Given the description of an element on the screen output the (x, y) to click on. 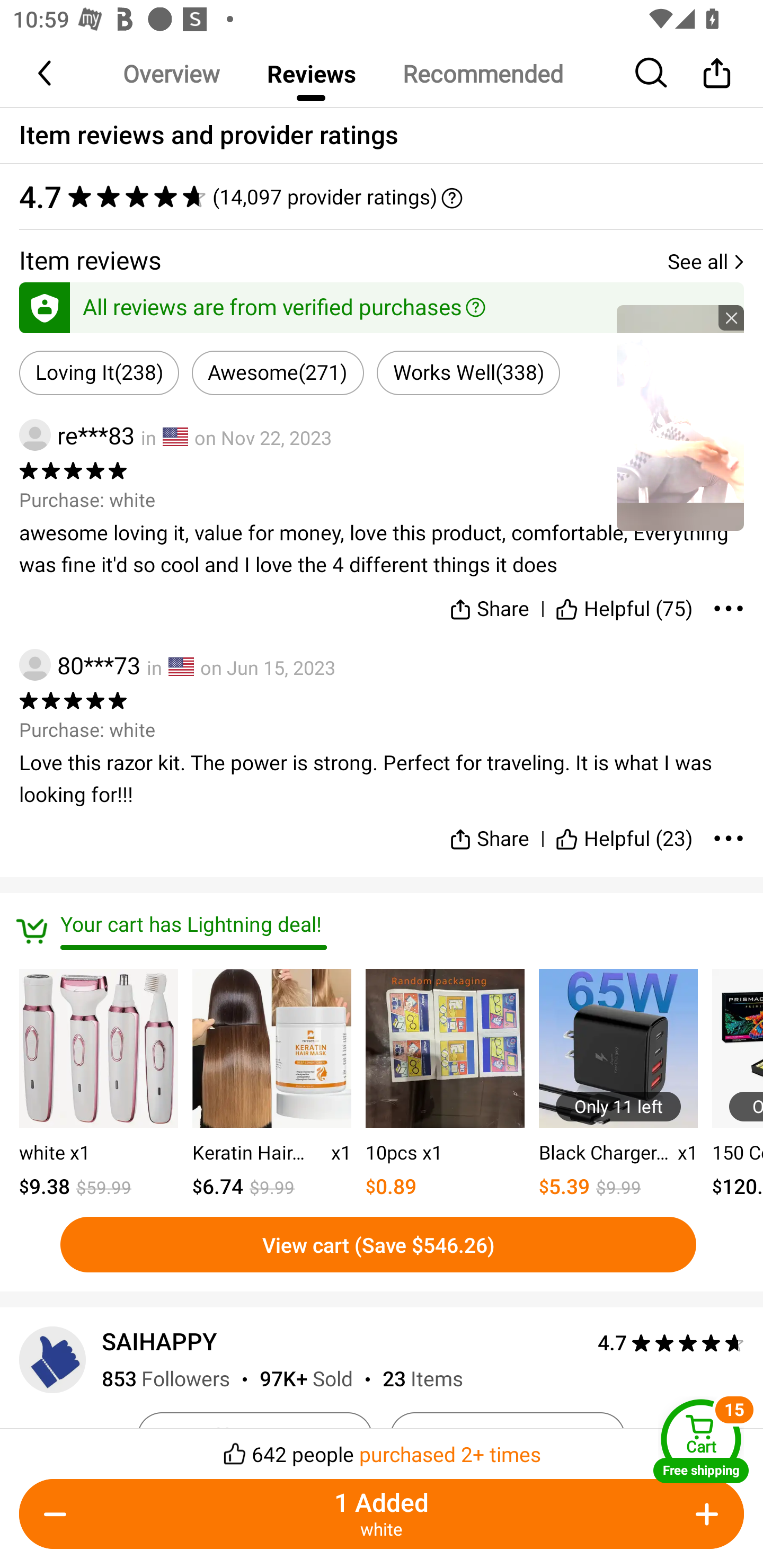
Overview (171, 72)
Reviews (311, 72)
Recommended (482, 72)
Back (46, 72)
Share (716, 72)
4.7 ‪(14,097 provider ratings) (381, 196)
All reviews are from verified purchases  (381, 303)
tronplayer_view (680, 417)
Loving It(238) (99, 373)
Awesome(271) (277, 373)
Works Well(338) (468, 373)
re***83 (76, 434)
  Share (489, 605)
  Helpful (75) (624, 605)
80***73 (79, 664)
  Share (489, 830)
  Helpful (23) (624, 830)
white  x1 $9.38 $59.99 (98, 1085)
Keratin Hair Mask 8.45oz  x1 $6.74 $9.99 (271, 1085)
10pcs  x1 $0.89 (444, 1085)
View cart (Save $546.26) (377, 1243)
Cart Free shipping Cart (701, 1440)
Decrease Quantity Button (59, 1513)
Add Quantity button (703, 1513)
